Given the description of an element on the screen output the (x, y) to click on. 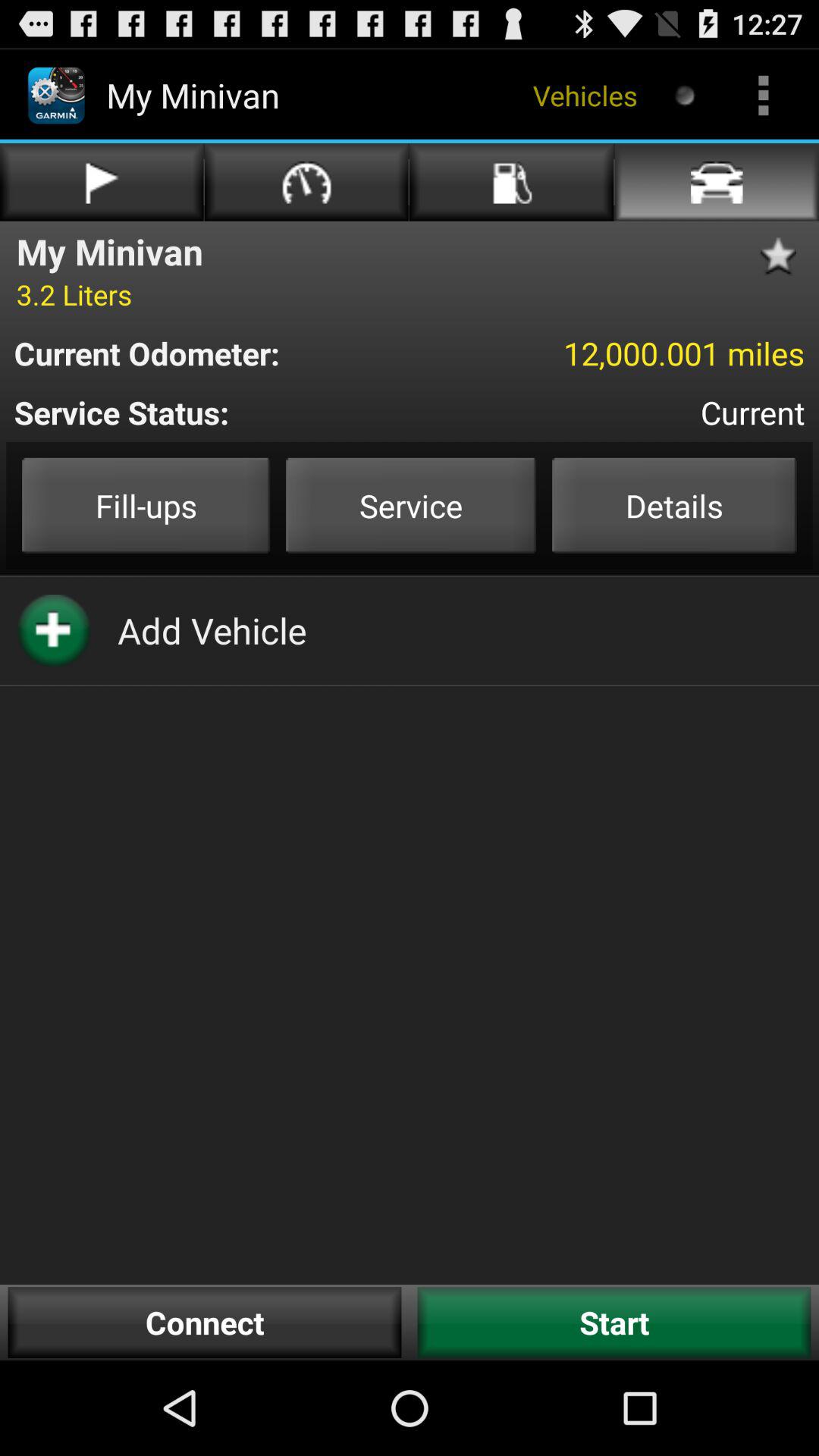
click the app above the service status: app (217, 352)
